Given the description of an element on the screen output the (x, y) to click on. 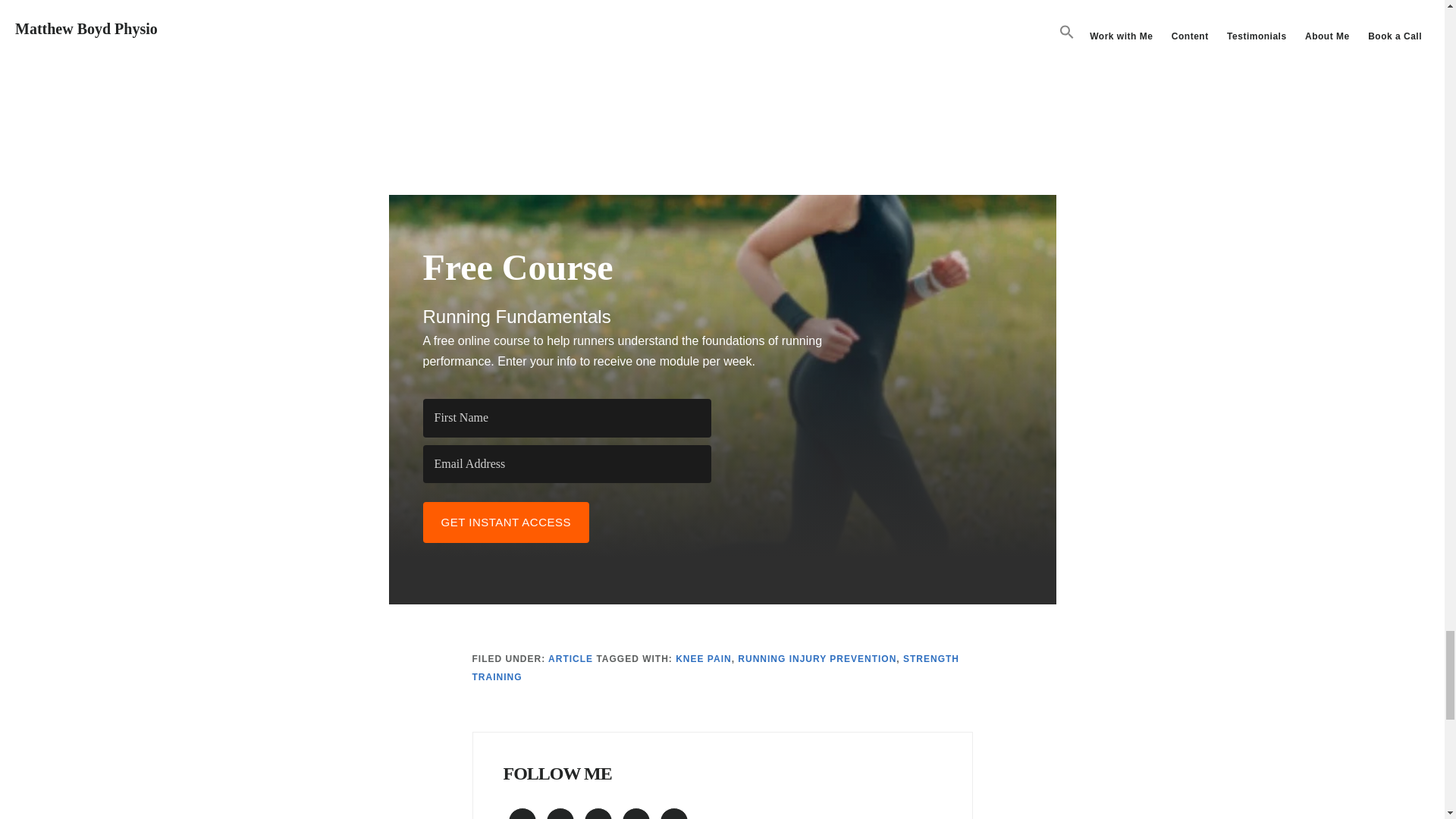
KNEE PAIN (702, 658)
ARTICLE (570, 658)
GET INSTANT ACCESS (506, 522)
RUNNING INJURY PREVENTION (817, 658)
STRENGTH TRAINING (715, 667)
